Given the description of an element on the screen output the (x, y) to click on. 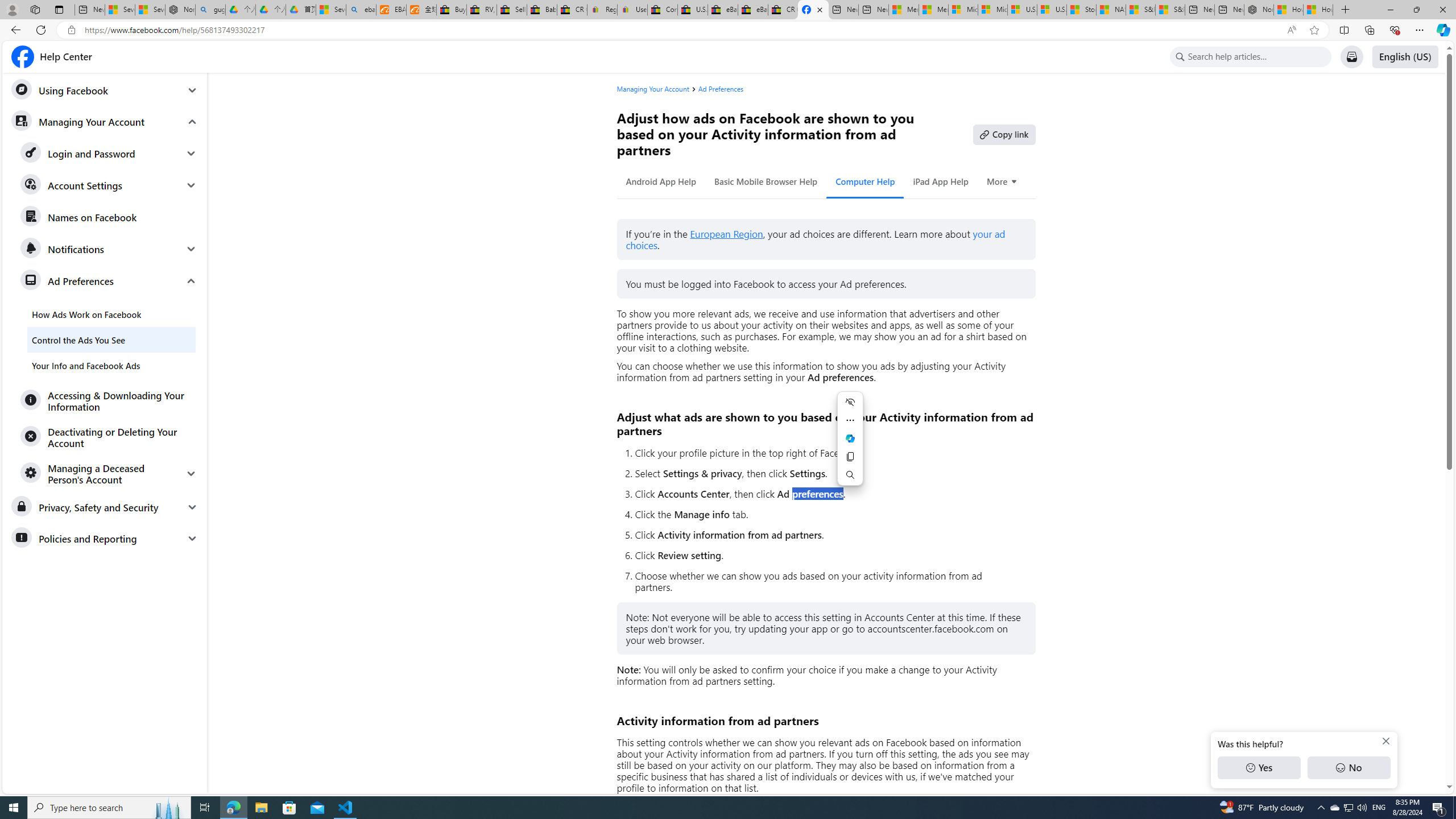
User Privacy Notice | eBay (632, 9)
Login and Password (108, 153)
Managing Your Account (651, 89)
Login and Password Expand (109, 153)
